Given the description of an element on the screen output the (x, y) to click on. 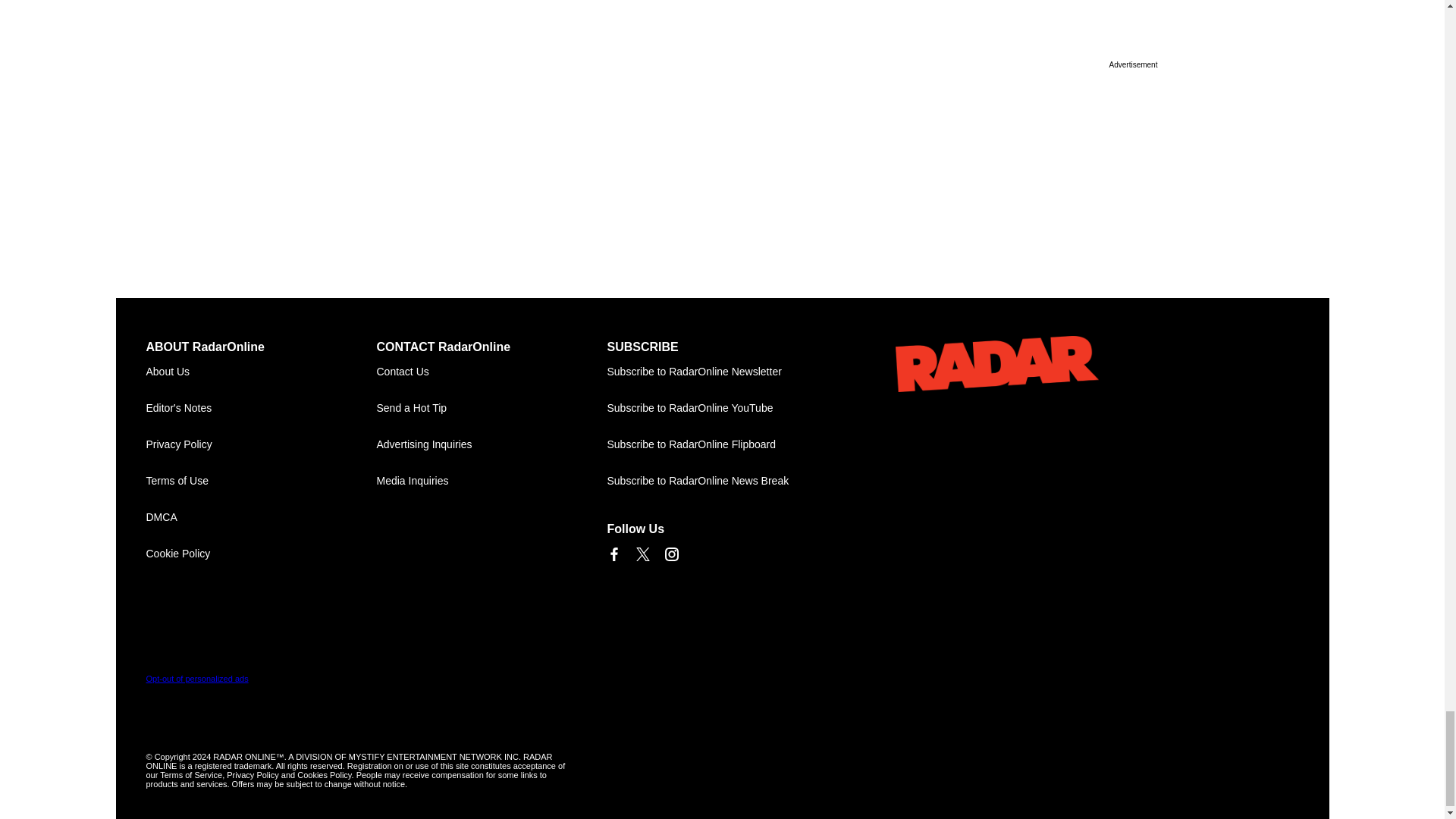
Editor's Notes (260, 408)
DMCA (260, 517)
Media Inquiries (491, 481)
Link to X (641, 554)
Privacy Policy (260, 444)
About Us (260, 371)
Terms of Use (260, 481)
Subscribe (722, 371)
Send a Hot Tip (491, 408)
Cookie Policy (260, 554)
Link to Instagram (670, 554)
Advertising Inquiries (491, 444)
Link to Facebook (613, 554)
Contact Us (491, 371)
